Given the description of an element on the screen output the (x, y) to click on. 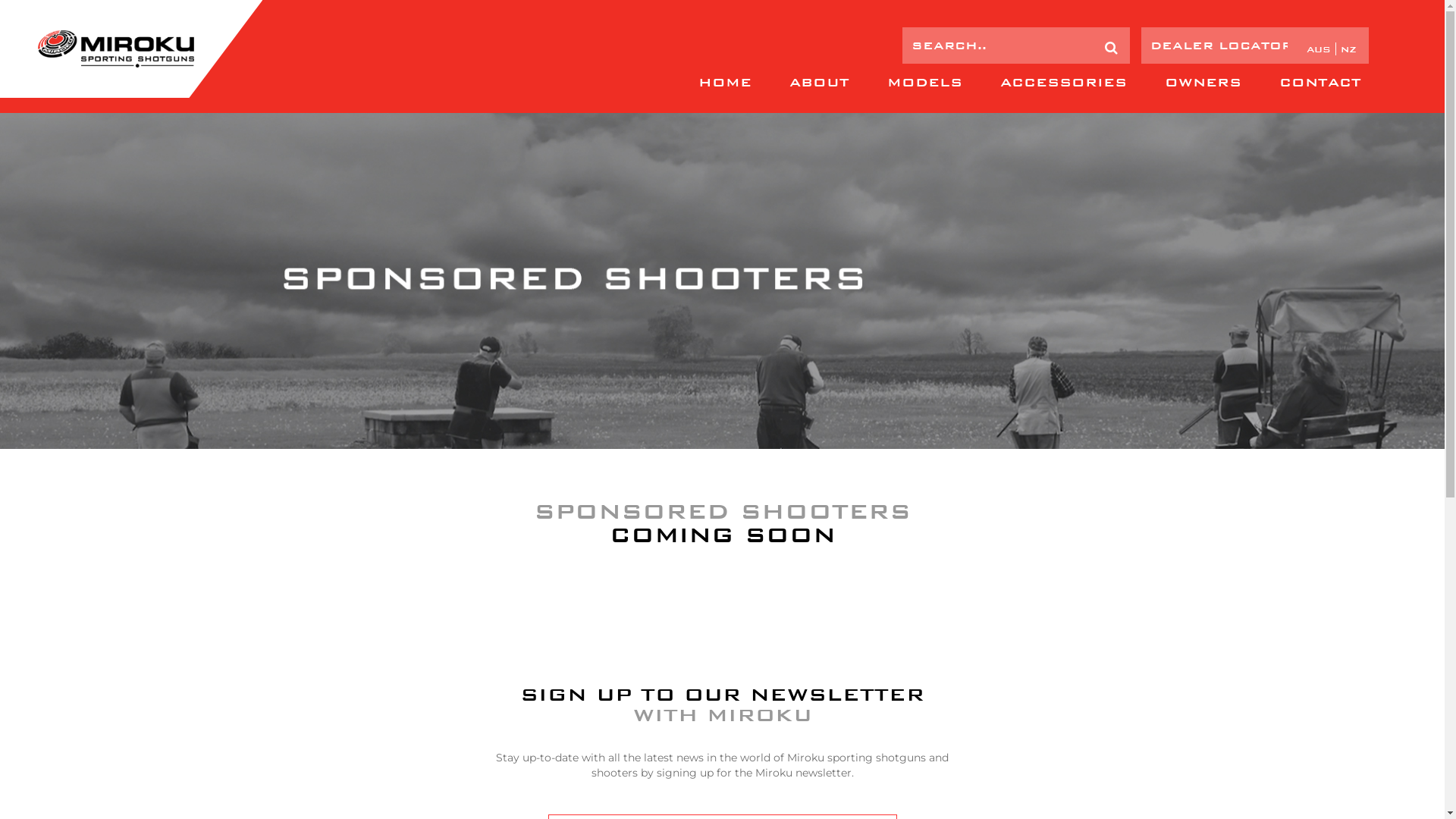
CONTACT Element type: text (1320, 82)
aus Element type: text (1319, 48)
HOME Element type: text (724, 82)
ABOUT Element type: text (819, 82)
ACCESSORIES Element type: text (1063, 82)
MODELS Element type: text (924, 82)
nz Element type: text (1348, 48)
Miroku Shotguns Australia Element type: hover (115, 49)
OWNERS Element type: text (1202, 82)
